Given the description of an element on the screen output the (x, y) to click on. 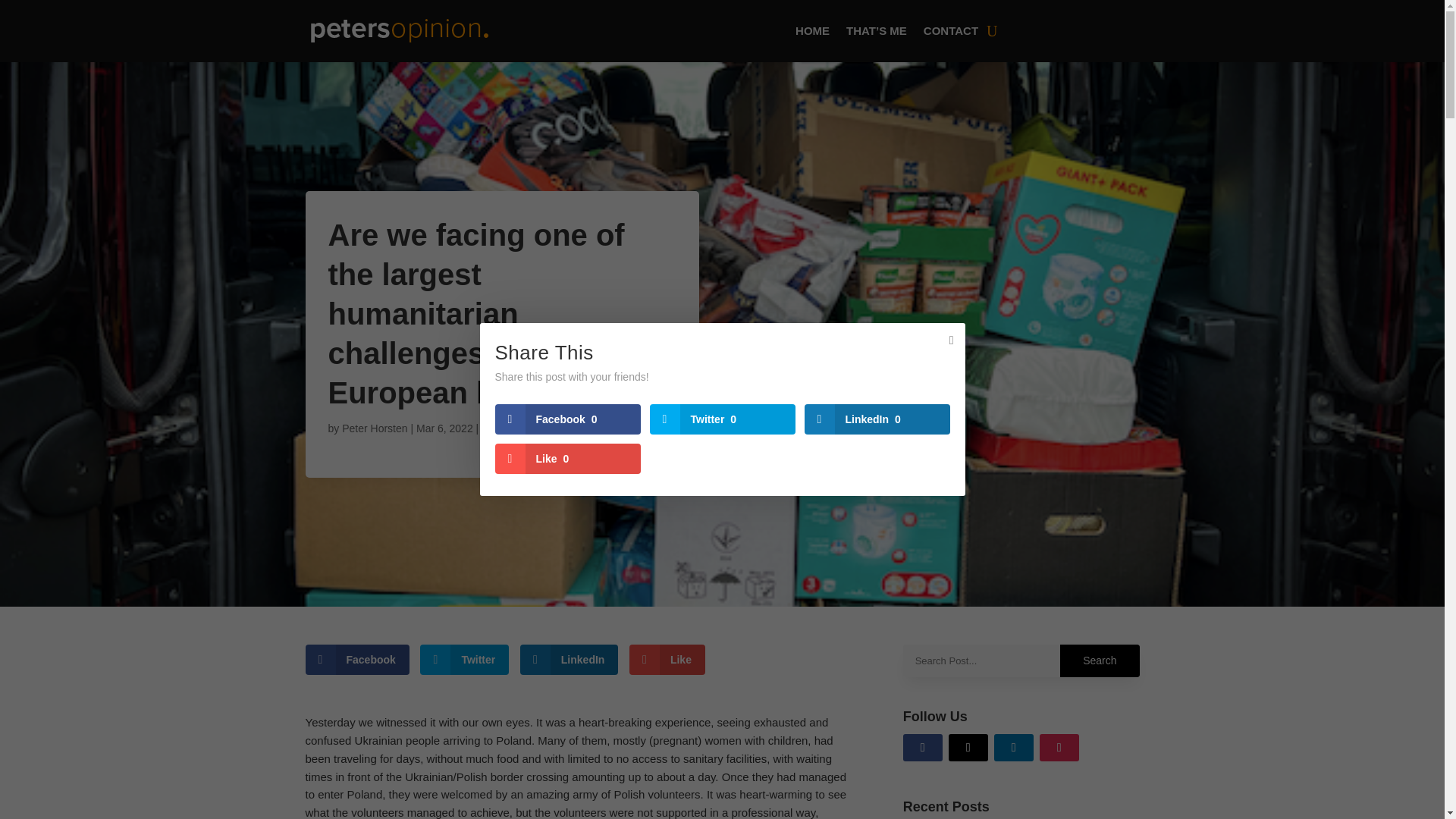
Like (666, 659)
Follow on Facebook (922, 747)
5 comments (600, 428)
Follow on LinkedIn (1013, 747)
Twitter (464, 659)
Search (1098, 660)
CONTACT (950, 30)
Facebook (356, 659)
Personal Insights (521, 428)
Search (1098, 660)
HOME (811, 30)
Peter Horsten (374, 428)
Follow on X (968, 747)
Posts by Peter Horsten (374, 428)
